Given the description of an element on the screen output the (x, y) to click on. 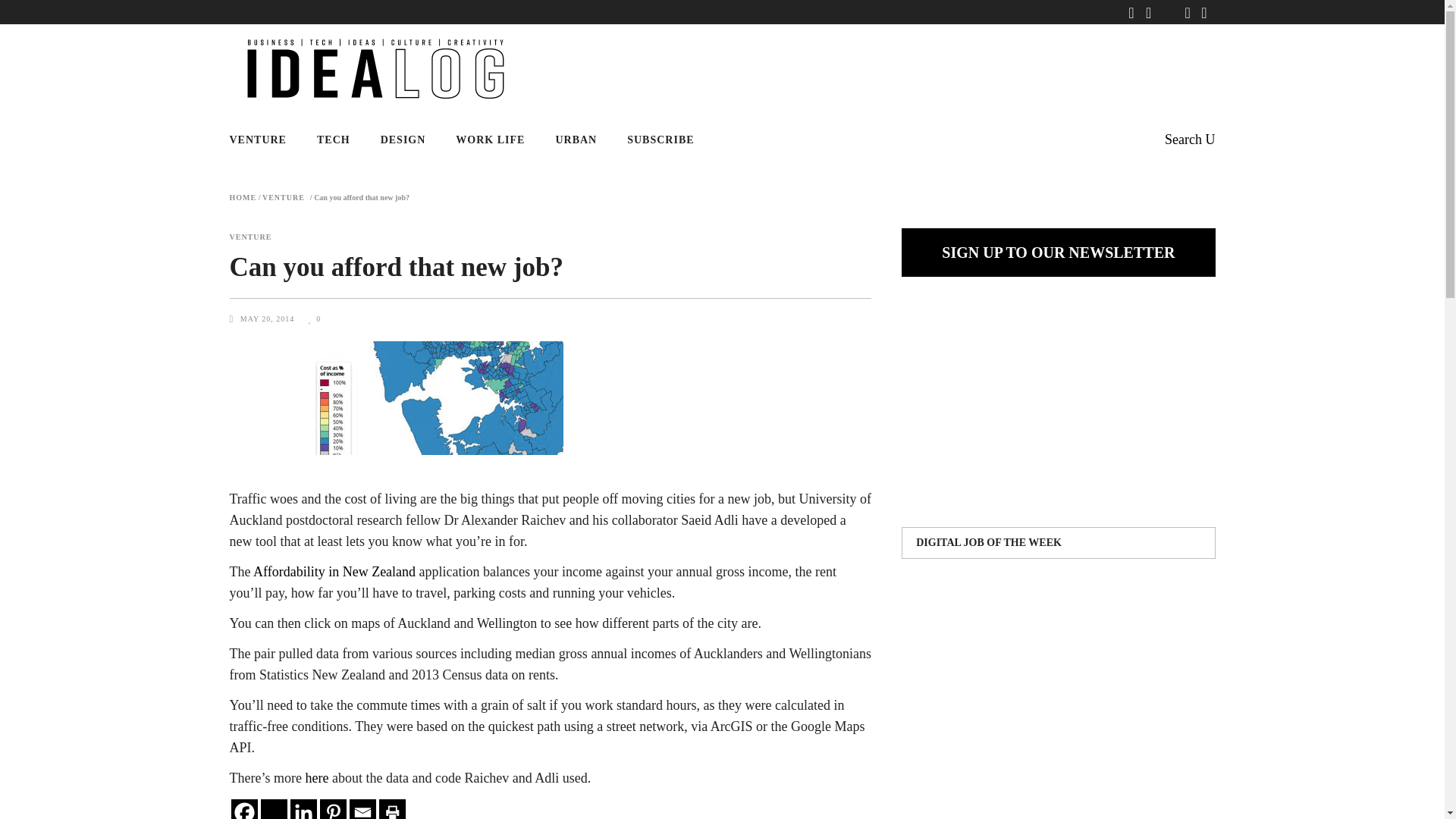
WORK LIFE (490, 139)
DESIGN (403, 139)
Affordability in New Zealand (333, 571)
VENTURE (283, 197)
Like this (314, 318)
Facebook (243, 809)
Email (362, 809)
VENTURE (264, 139)
Twitter (273, 809)
SUBSCRIBE (660, 139)
Print (392, 809)
Pinterest (333, 809)
VENTURE (249, 236)
0 (314, 318)
TECH (333, 139)
